Given the description of an element on the screen output the (x, y) to click on. 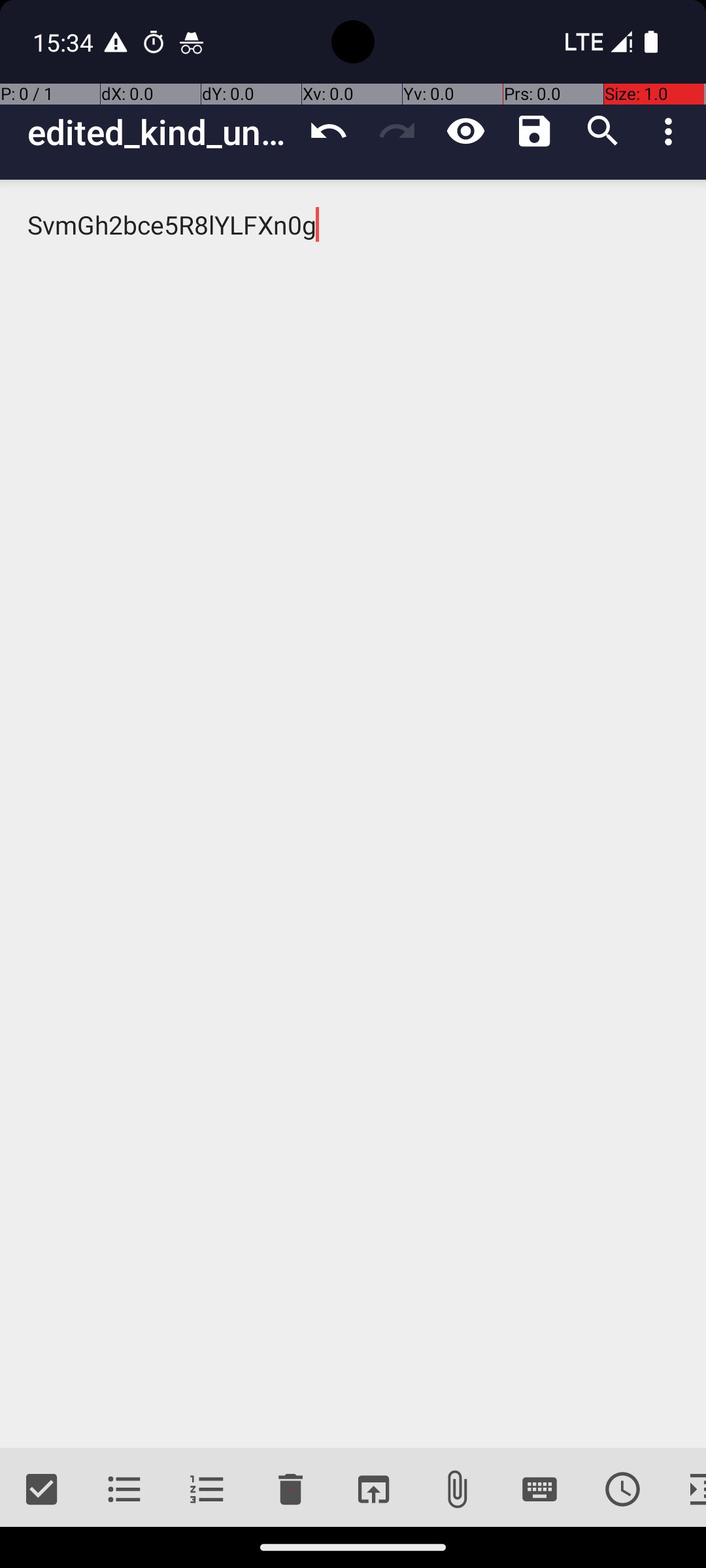
edited_kind_unicorn Element type: android.widget.TextView (160, 131)
SvmGh2bce5R8lYLFXn0g Element type: android.widget.EditText (353, 813)
Chrome notification: Incognito Tabs Element type: android.widget.ImageView (191, 41)
